Given the description of an element on the screen output the (x, y) to click on. 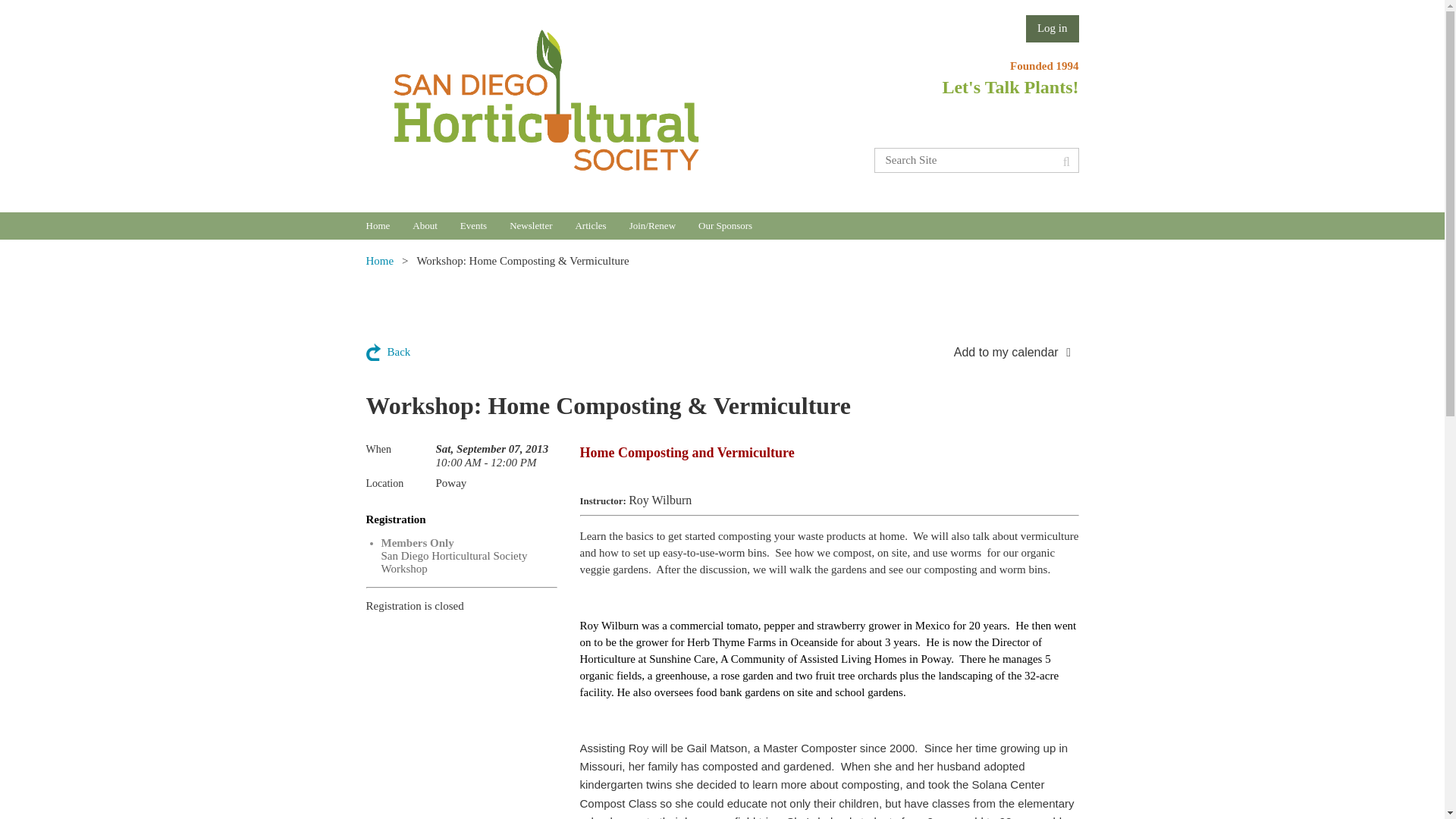
Newsletter (542, 225)
Articles (601, 225)
Home (388, 225)
About (436, 225)
Log in (1052, 28)
Home (388, 225)
Events (484, 225)
Back (387, 352)
About (436, 225)
Home (379, 260)
